Given the description of an element on the screen output the (x, y) to click on. 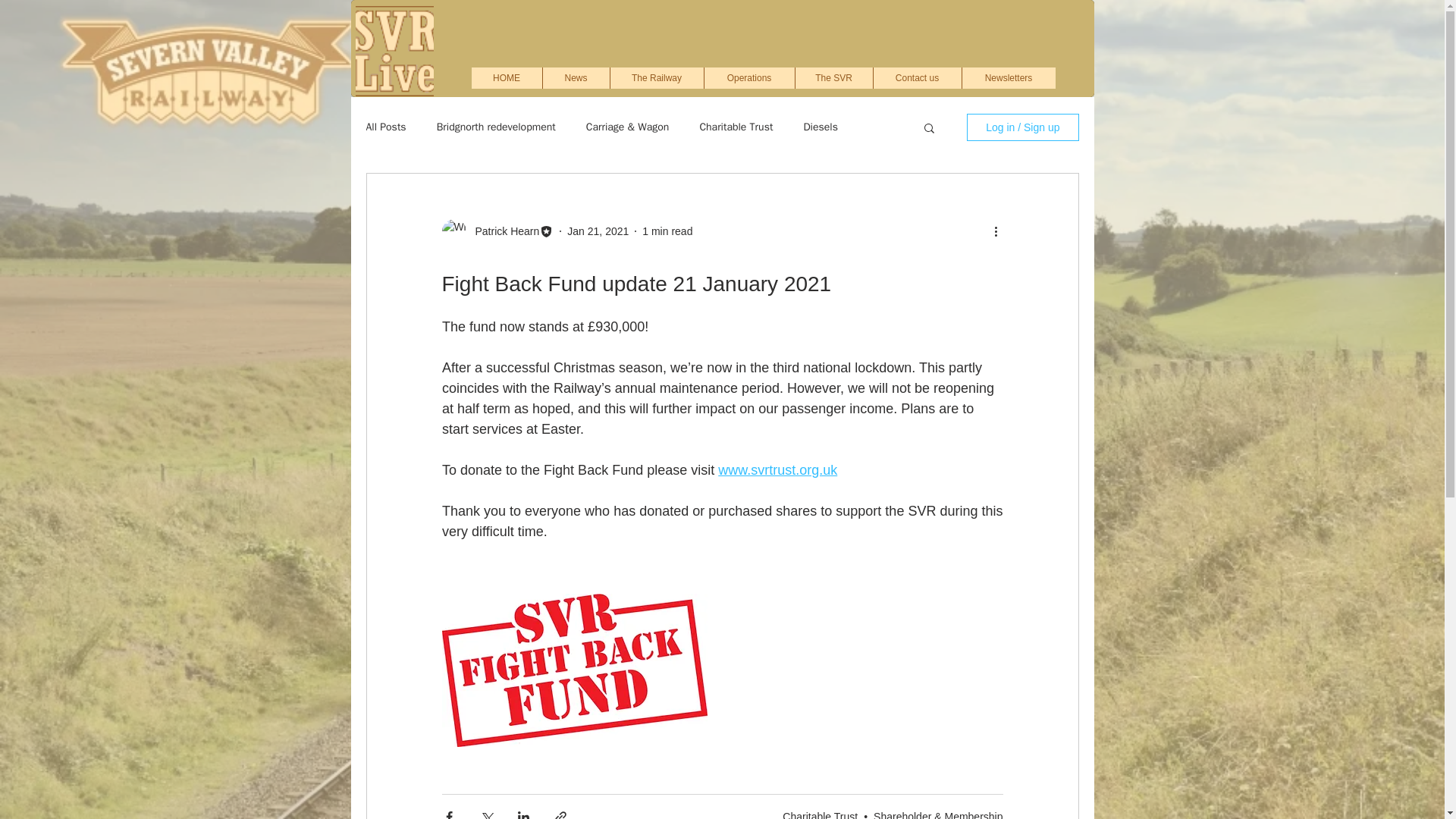
Newsletters (1007, 77)
The SVR (833, 77)
News (574, 77)
Bridgnorth redevelopment (496, 127)
The Railway (656, 77)
Contact us (916, 77)
Operations (748, 77)
Diesels (820, 127)
HOME (506, 77)
Patrick Hearn (501, 230)
